Given the description of an element on the screen output the (x, y) to click on. 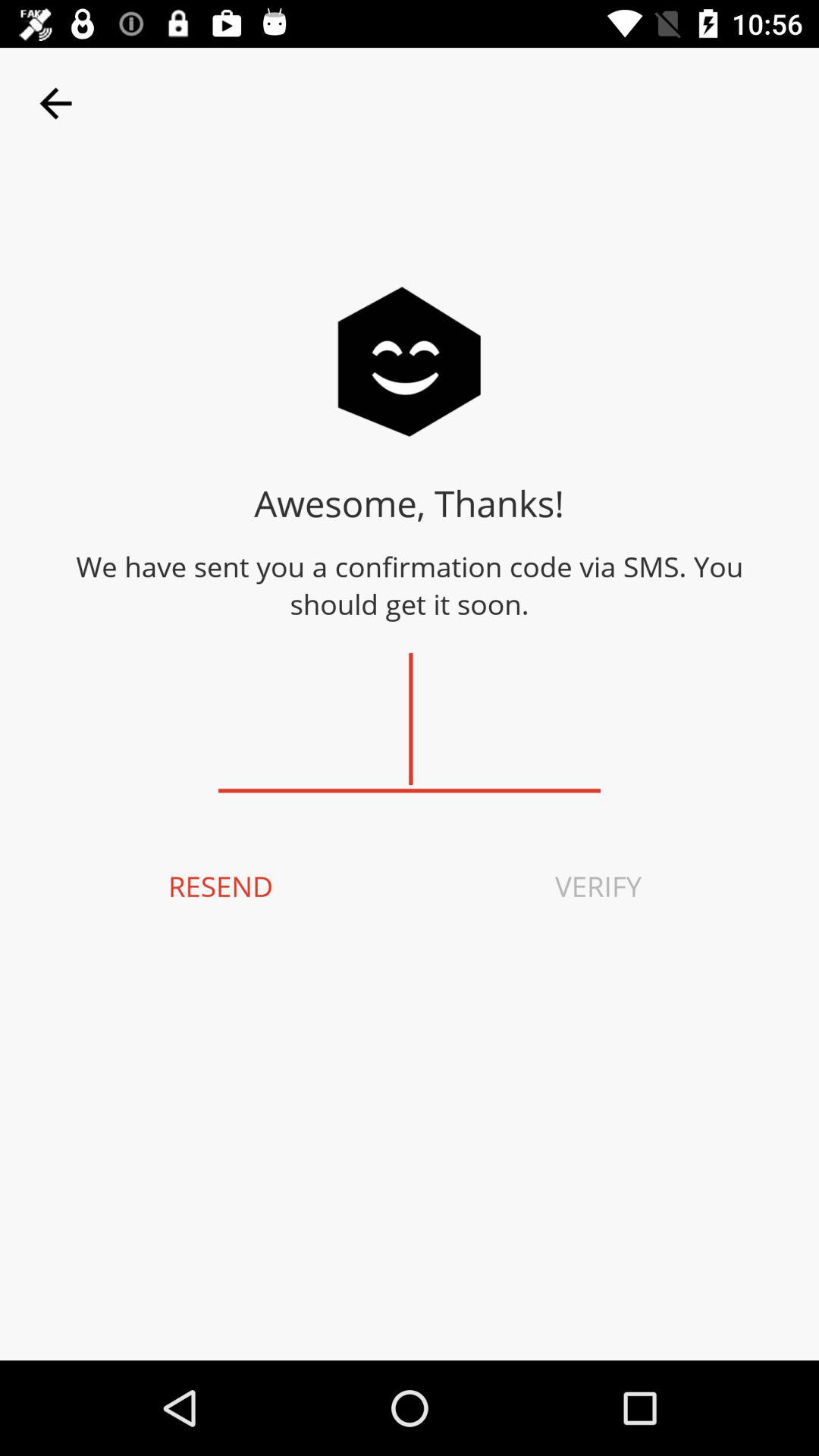
confirmation code entry box (409, 719)
